Given the description of an element on the screen output the (x, y) to click on. 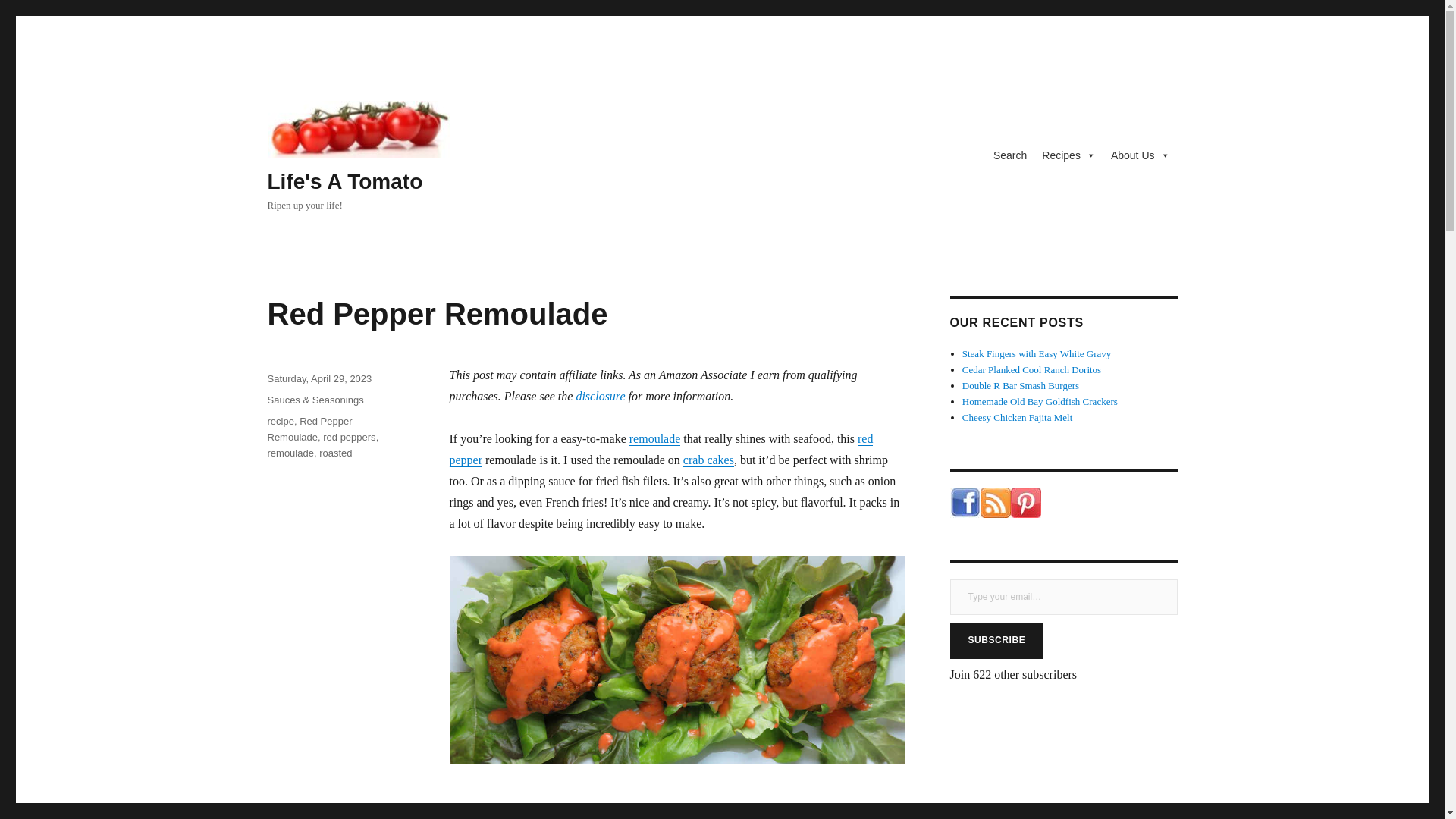
Search (1009, 155)
About Us (1140, 155)
disclosure (599, 395)
crab cakes (707, 459)
Life's A Tomato (344, 181)
Recipes (1068, 155)
red pepper (660, 449)
remoulade (654, 438)
